Given the description of an element on the screen output the (x, y) to click on. 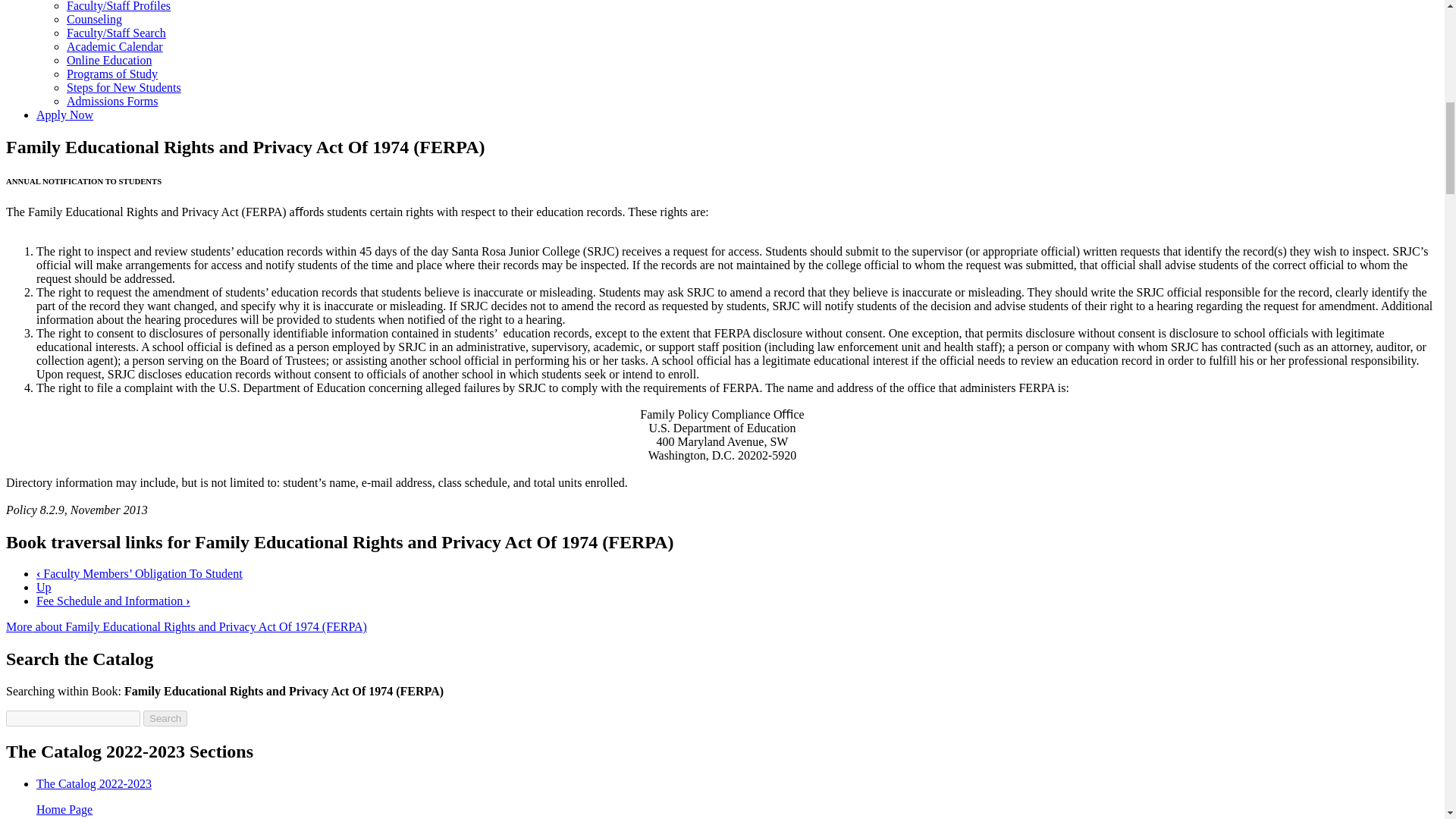
Admissions Forms (111, 101)
Programs of Study (111, 73)
Academic Calendar (114, 46)
Online Education (108, 60)
Go to parent page (43, 586)
Go to previous page (139, 573)
Counseling (94, 19)
Steps for New Students (123, 87)
Go to next page (113, 600)
